Given the description of an element on the screen output the (x, y) to click on. 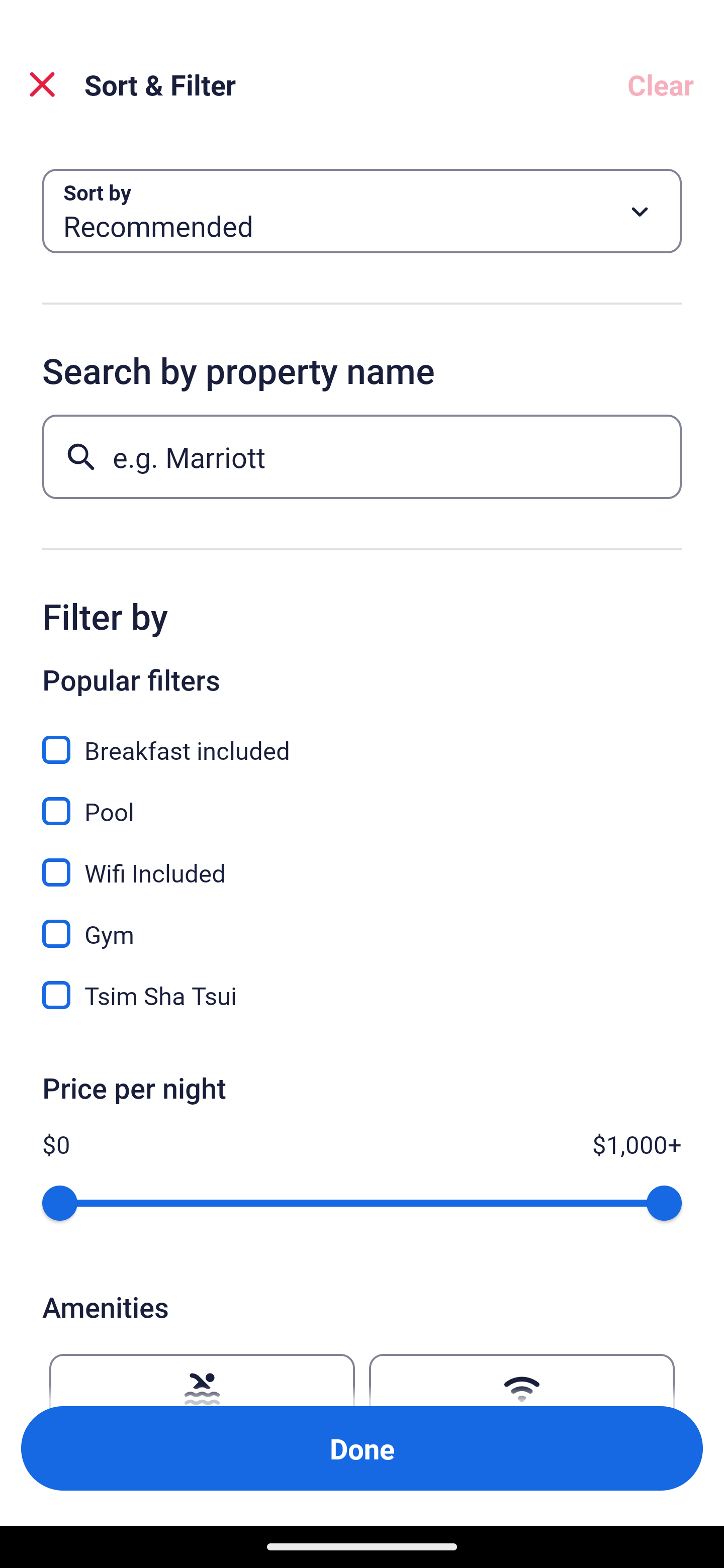
Close Sort and Filter (42, 84)
Clear (660, 84)
Sort by Button Recommended (361, 211)
e.g. Marriott Button (361, 455)
Breakfast included, Breakfast included (361, 738)
Pool, Pool (361, 800)
Wifi Included, Wifi Included (361, 861)
Gym, Gym (361, 922)
Tsim Sha Tsui, Tsim Sha Tsui (361, 995)
Apply and close Sort and Filter Done (361, 1448)
